Given the description of an element on the screen output the (x, y) to click on. 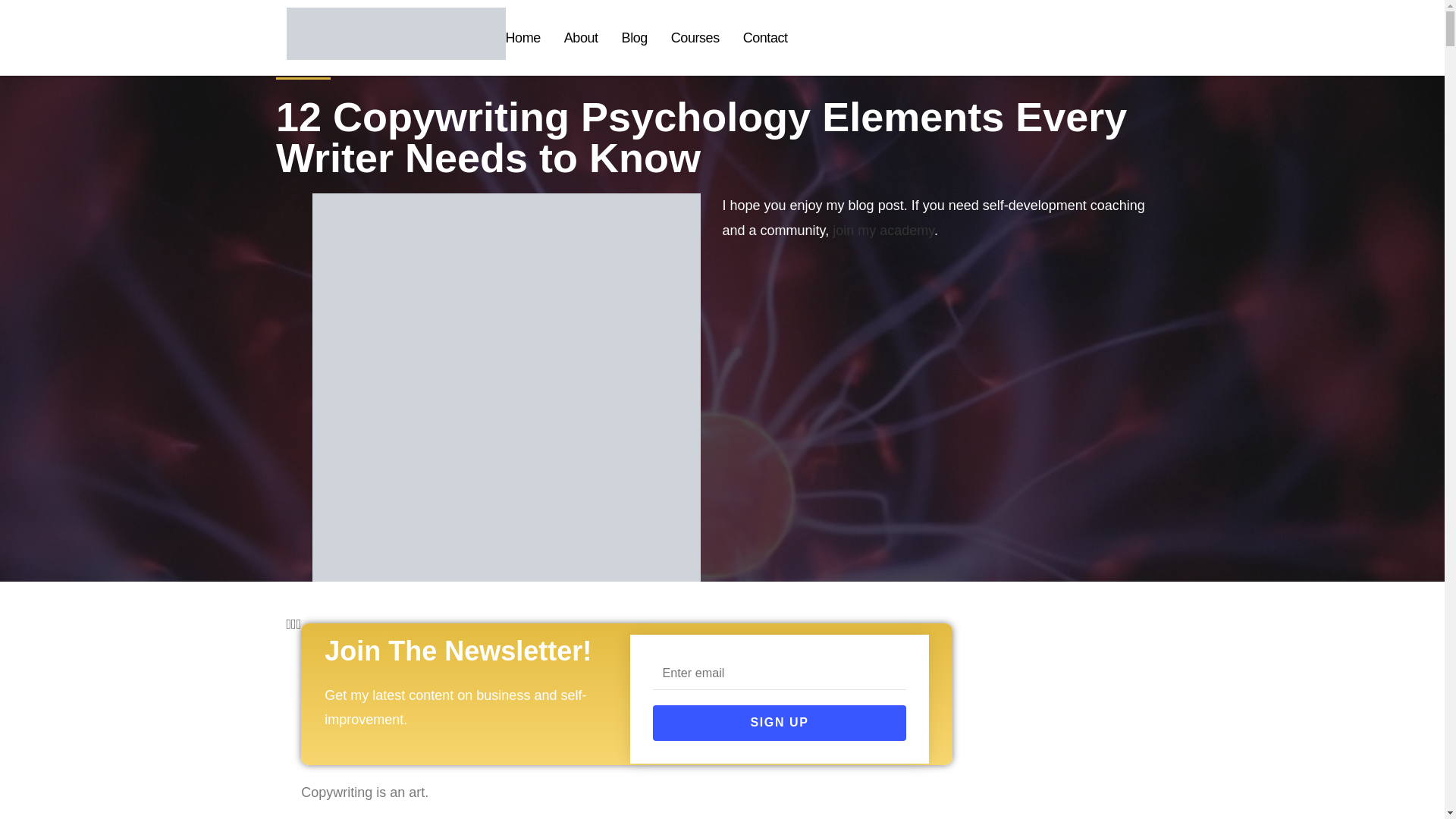
Home (522, 37)
Contact (764, 37)
Courses (695, 37)
SIGN UP (778, 723)
Blog (634, 37)
join my academy (883, 230)
About (581, 37)
